Given the description of an element on the screen output the (x, y) to click on. 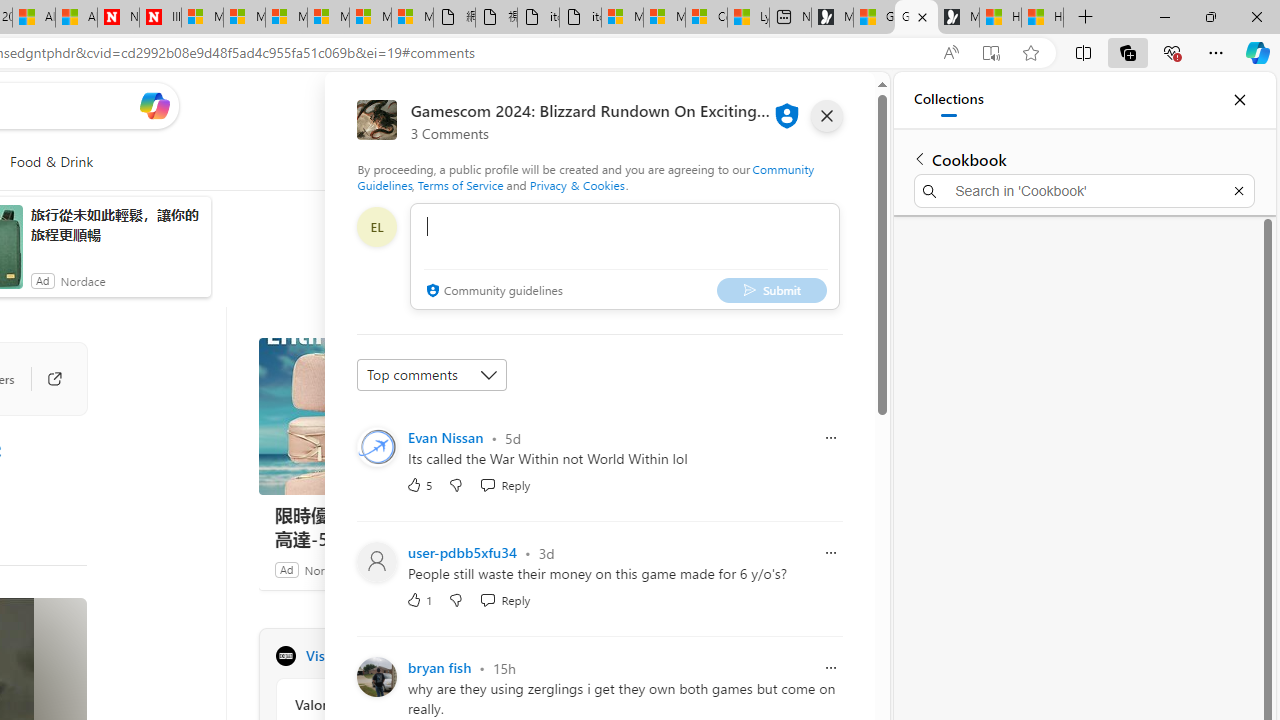
Profile Picture (376, 676)
Community guidelines (492, 291)
Profile Picture (376, 676)
Submit (771, 290)
CGMagazine (285, 655)
